Given the description of an element on the screen output the (x, y) to click on. 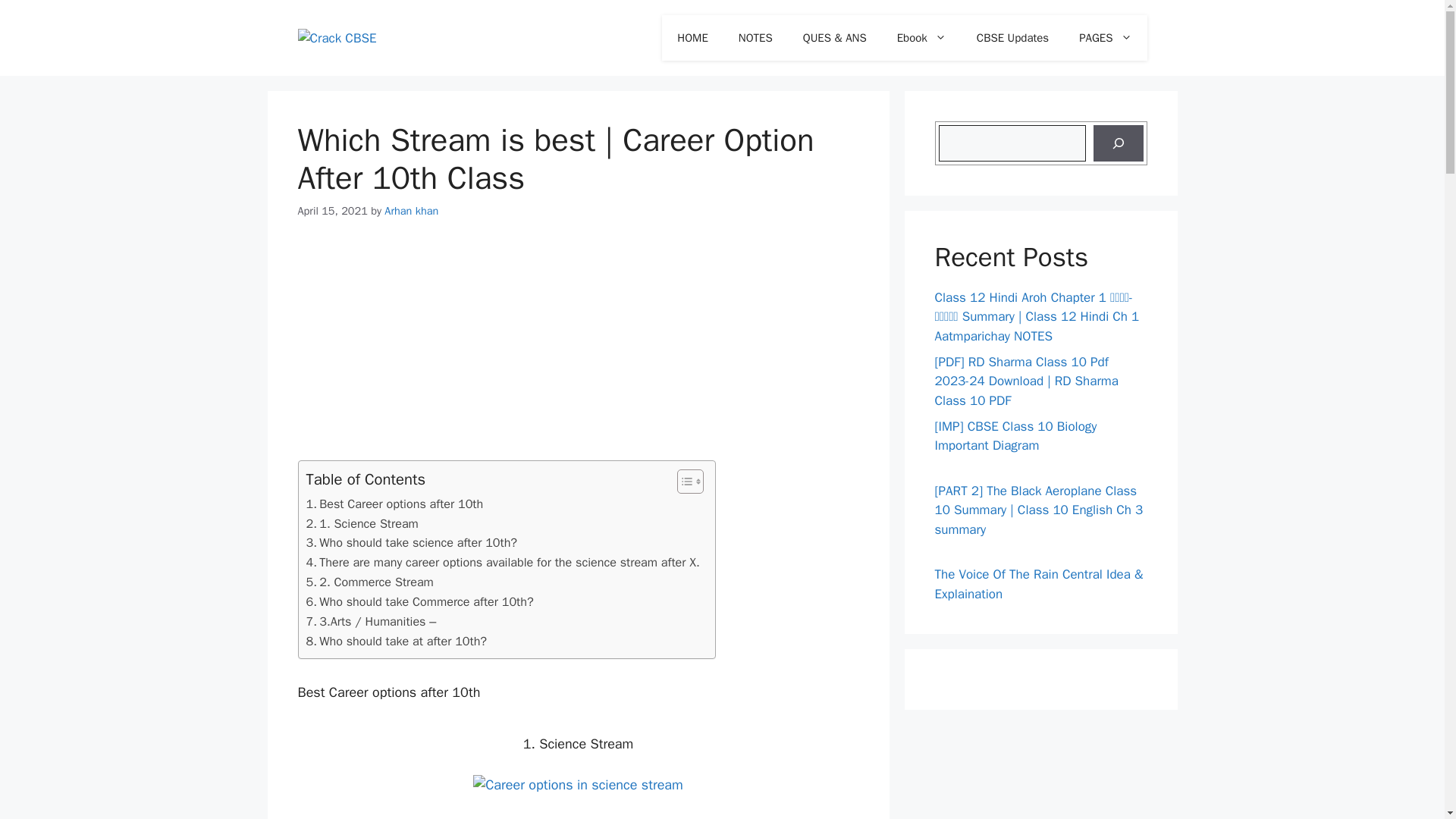
Who should take at after 10th? (396, 641)
View all posts by Arhan khan (411, 210)
Who should take science after 10th? (411, 542)
Who should take Commerce after 10th? (419, 601)
1. Science Stream (362, 523)
Career options in science stream (577, 784)
Who should take Commerce after 10th? (419, 601)
Best Career options after 10th (394, 504)
HOME (692, 37)
